Given the description of an element on the screen output the (x, y) to click on. 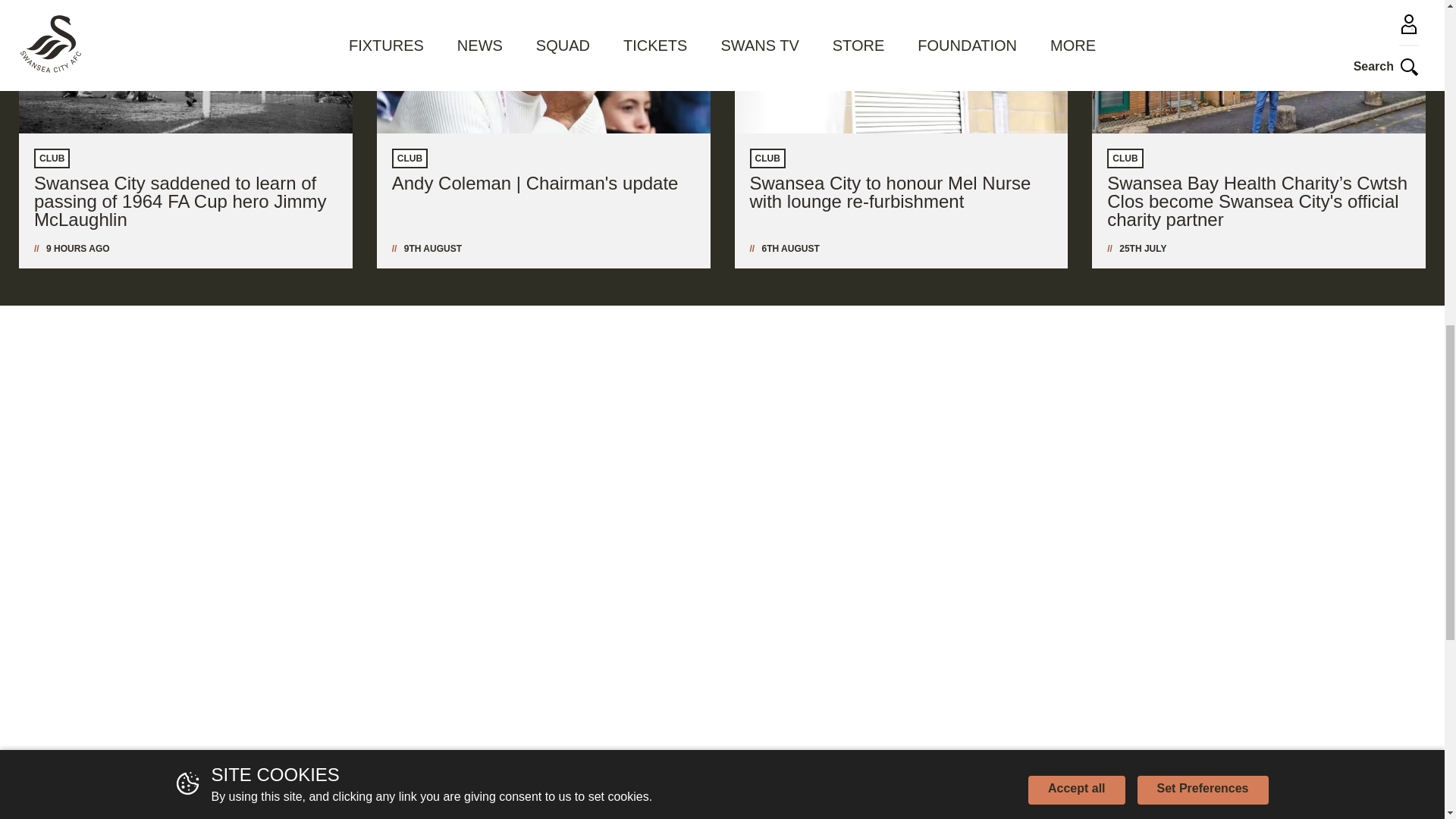
16th August (78, 248)
3rd party ad content (721, 626)
3rd party ad content (1085, 411)
3rd party ad content (1085, 626)
3rd party ad content (721, 411)
3rd party ad content (357, 626)
3rd party ad content (357, 411)
